Given the description of an element on the screen output the (x, y) to click on. 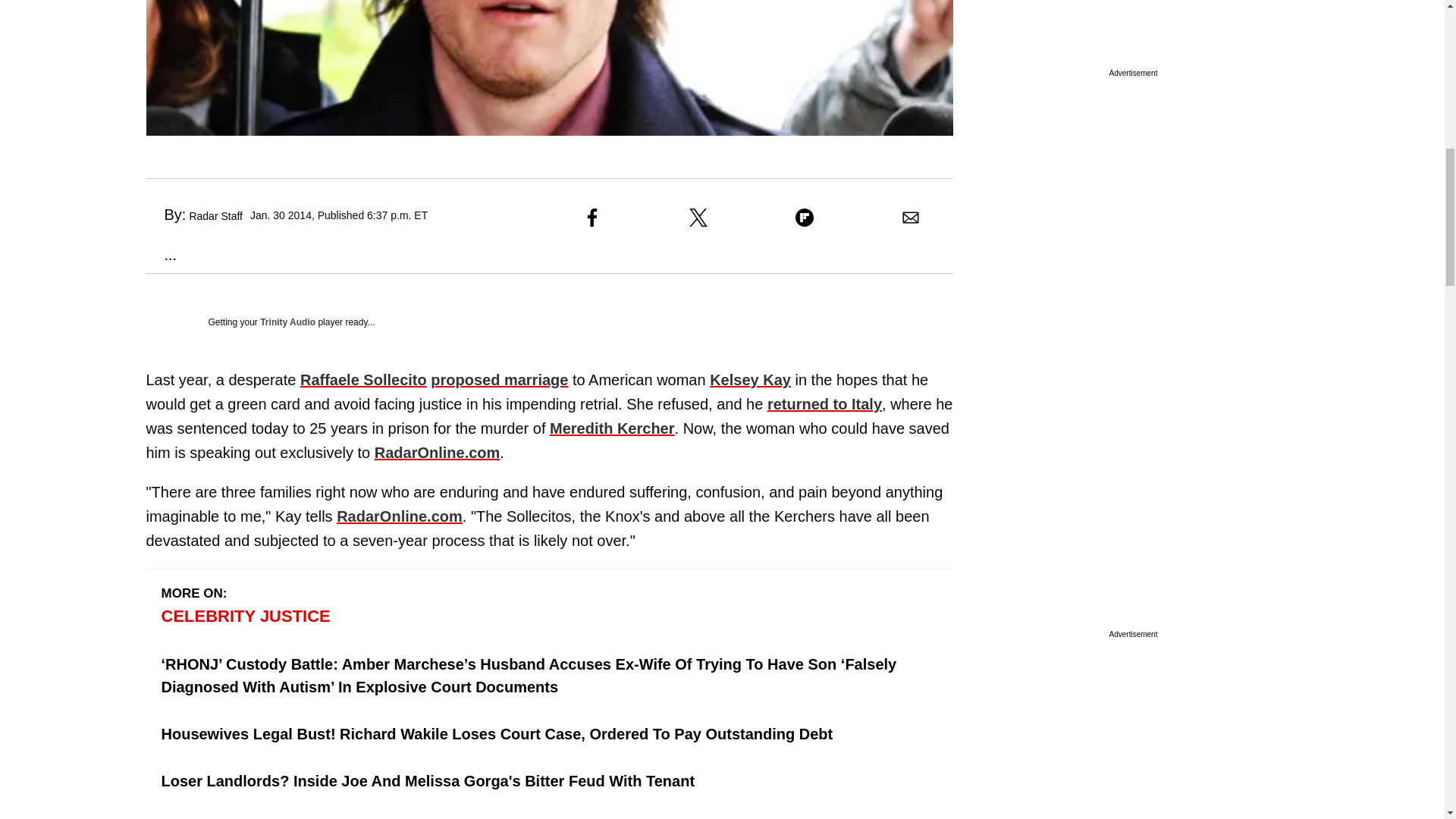
proposed marriage (498, 379)
Meredith Kercher (612, 428)
Share to Email (909, 217)
... (160, 254)
RadarOnline.com (399, 515)
returned to Italy (824, 403)
Share to Flipboard (803, 217)
Share to X (697, 217)
